Given the description of an element on the screen output the (x, y) to click on. 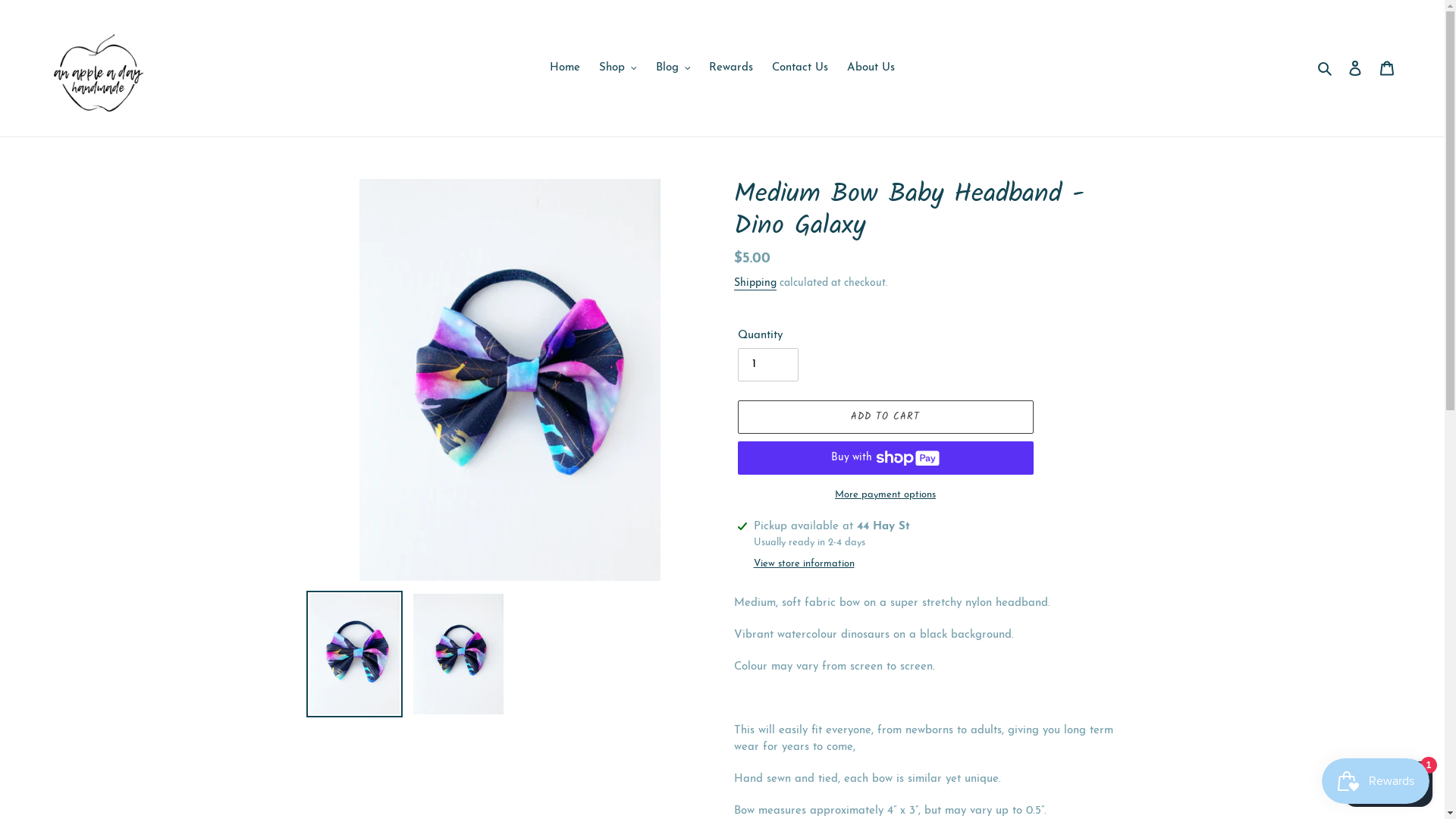
Blog Element type: text (672, 68)
View store information Element type: text (803, 563)
Smile.io Rewards Program Launcher Element type: hover (1375, 780)
Home Element type: text (564, 68)
Log in Element type: text (1355, 68)
ADD TO CART Element type: text (884, 416)
Shopify online store chat Element type: hover (1388, 780)
Cart Element type: text (1386, 68)
Shop Element type: text (617, 68)
Search Element type: text (1325, 68)
Rewards Element type: text (730, 68)
Shipping Element type: text (755, 283)
More payment options Element type: text (884, 494)
About Us Element type: text (870, 68)
Contact Us Element type: text (799, 68)
